Given the description of an element on the screen output the (x, y) to click on. 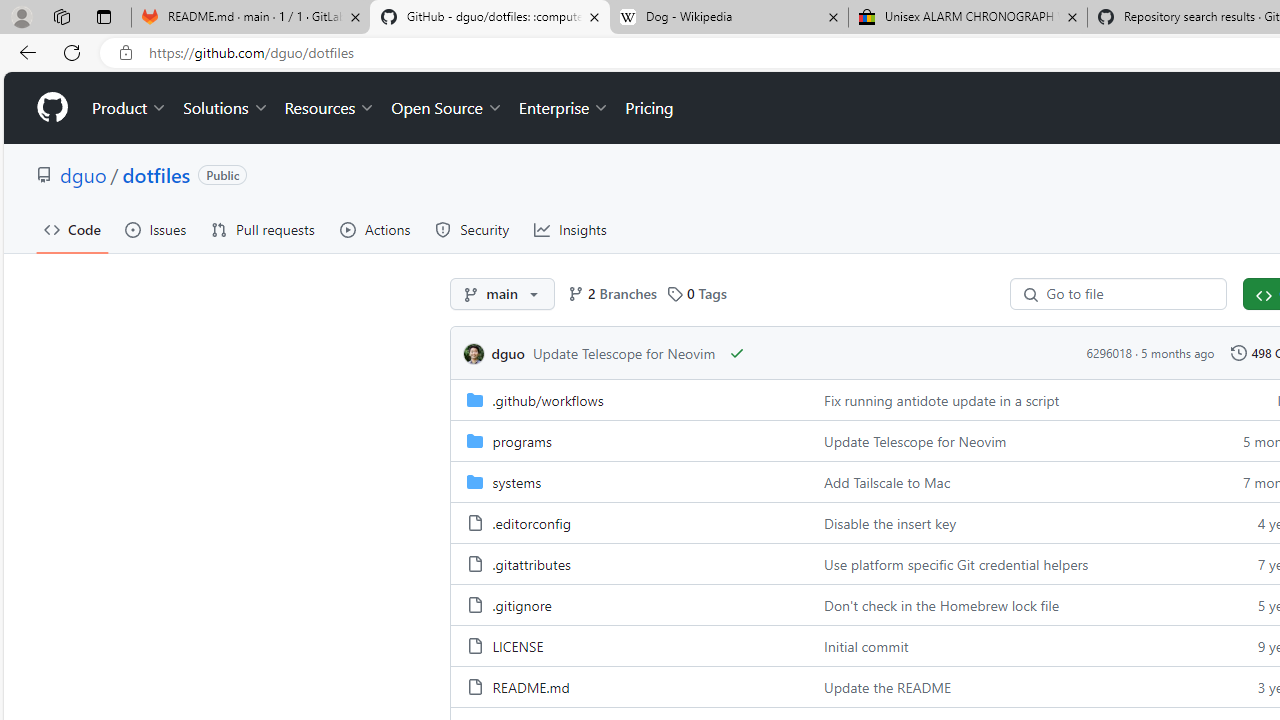
Resources (330, 107)
.github/workflows, (Directory) (629, 398)
Open Source (446, 107)
Insights (570, 229)
2 Branches (611, 293)
systems, (Directory) (629, 480)
Disable the insert key (890, 522)
Insights (570, 229)
Don't check in the Homebrew lock file (1008, 603)
0 Tags (696, 293)
Pull requests (262, 229)
Enterprise (563, 107)
Security (472, 229)
